Given the description of an element on the screen output the (x, y) to click on. 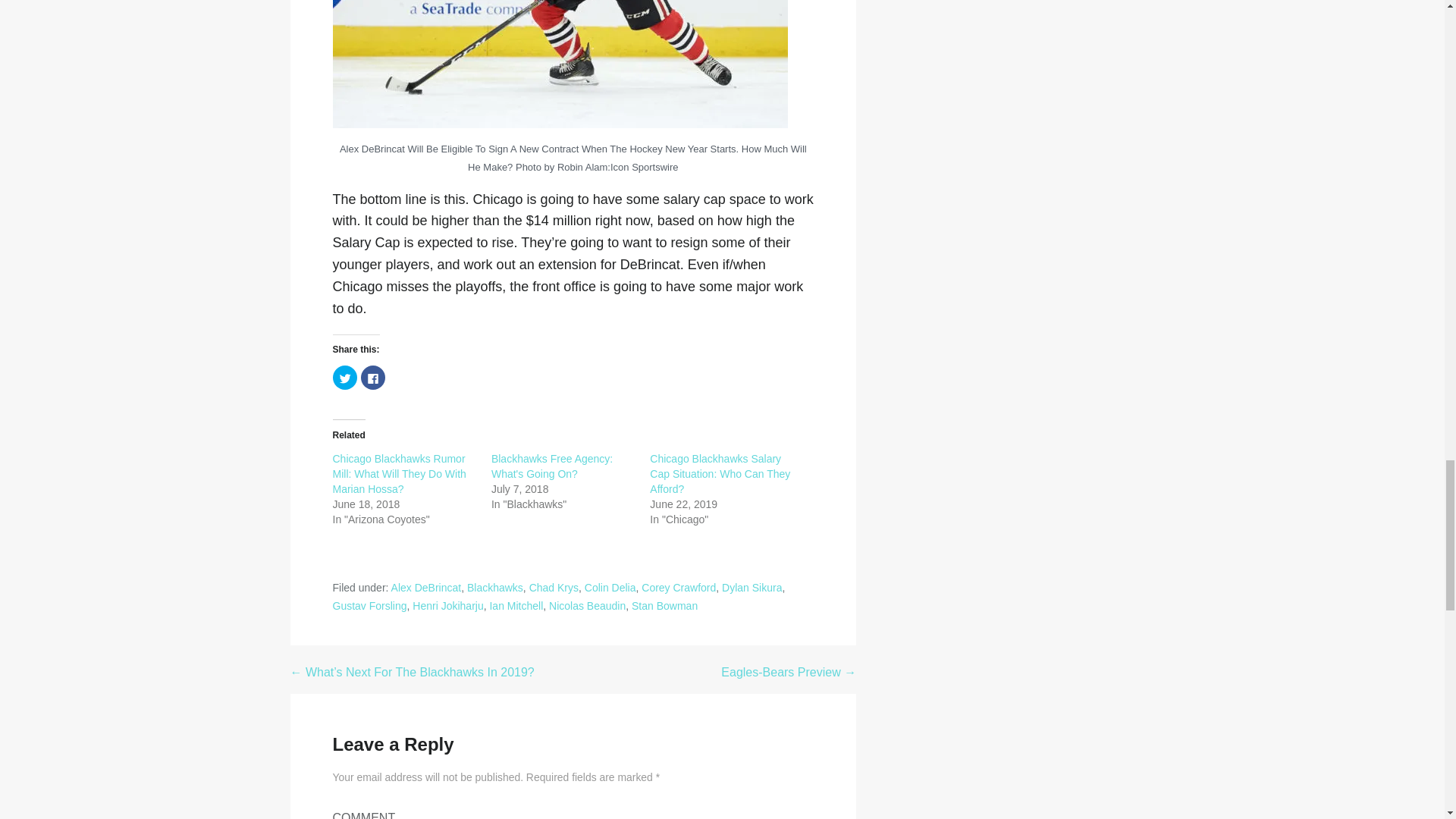
Click to share on Twitter (343, 377)
Nicolas Beaudin (587, 605)
Corey Crawford (679, 587)
Blackhawks (494, 587)
Ian Mitchell (516, 605)
Stan Bowman (664, 605)
Henri Jokiharju (447, 605)
Chad Krys (553, 587)
Alex DeBrincat (426, 587)
Blackhawks Free Agency: What's Going On? (552, 465)
Dylan Sikura (751, 587)
Click to share on Facebook (373, 377)
Colin Delia (610, 587)
